Given the description of an element on the screen output the (x, y) to click on. 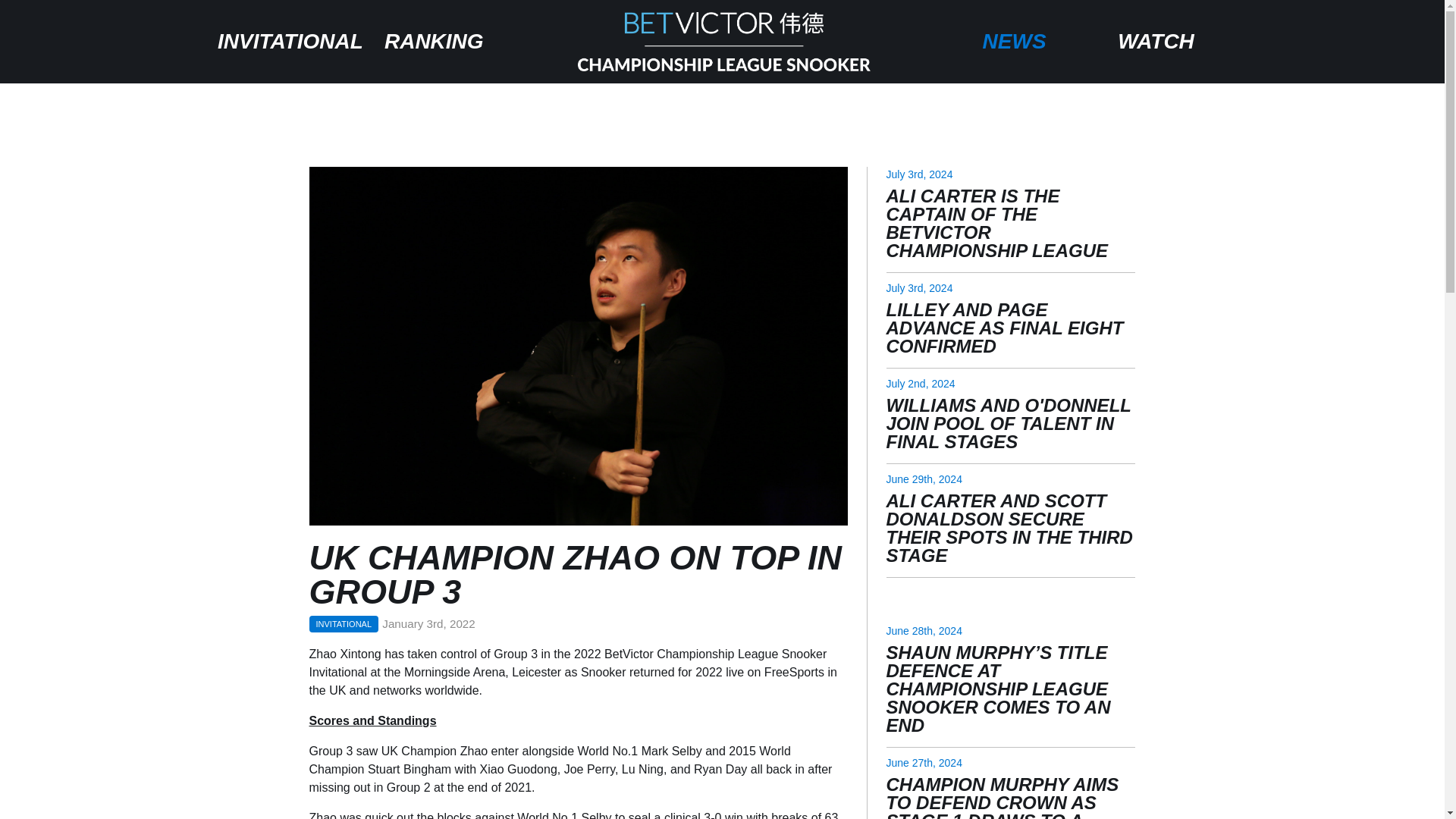
RANKING (433, 41)
WATCH (1155, 41)
NEWS (1013, 41)
Scores and Standings (372, 720)
INVITATIONAL (289, 41)
